Given the description of an element on the screen output the (x, y) to click on. 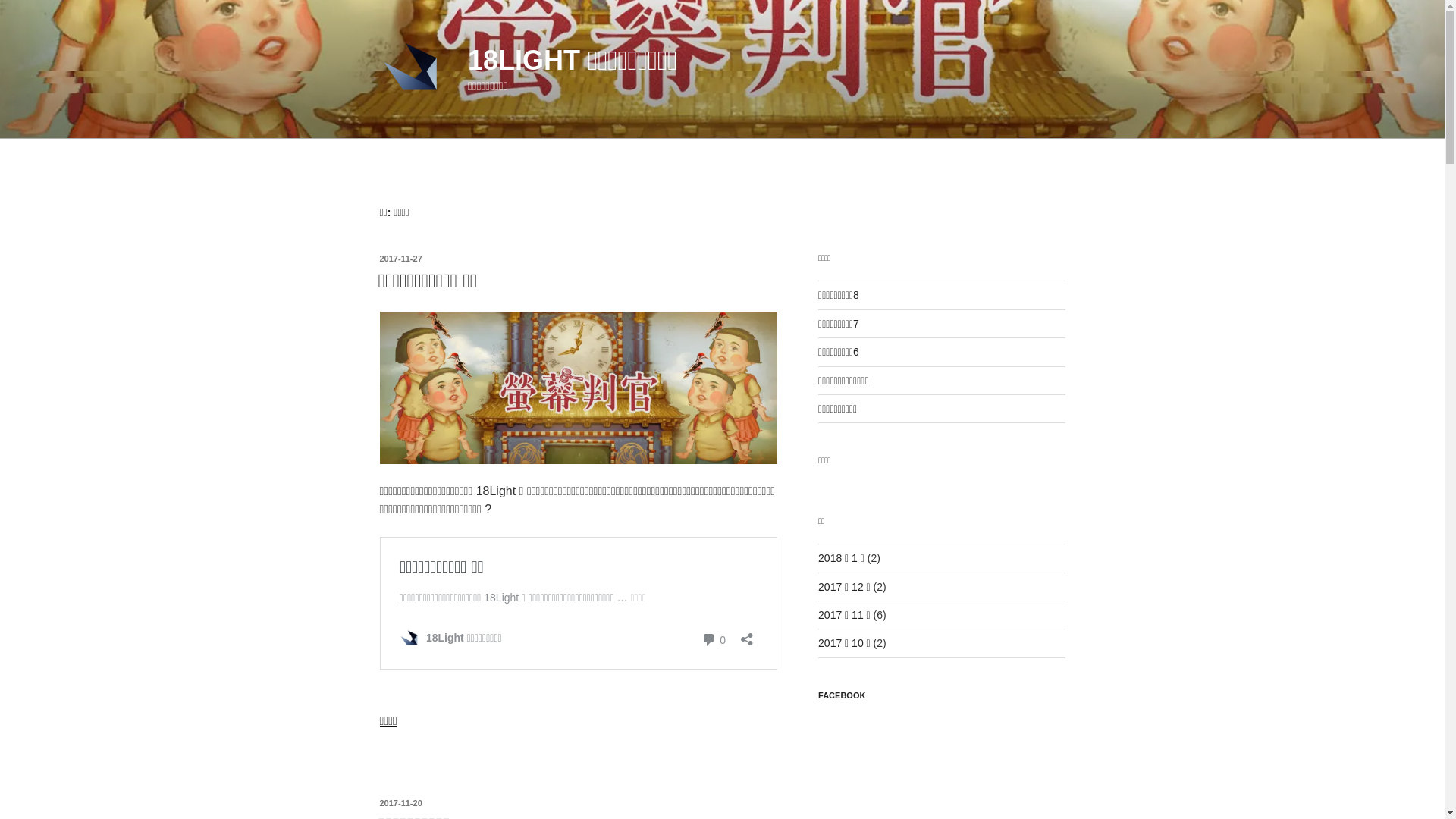
2017-11-20 Element type: text (400, 802)
2017-11-27 Element type: text (400, 258)
